Given the description of an element on the screen output the (x, y) to click on. 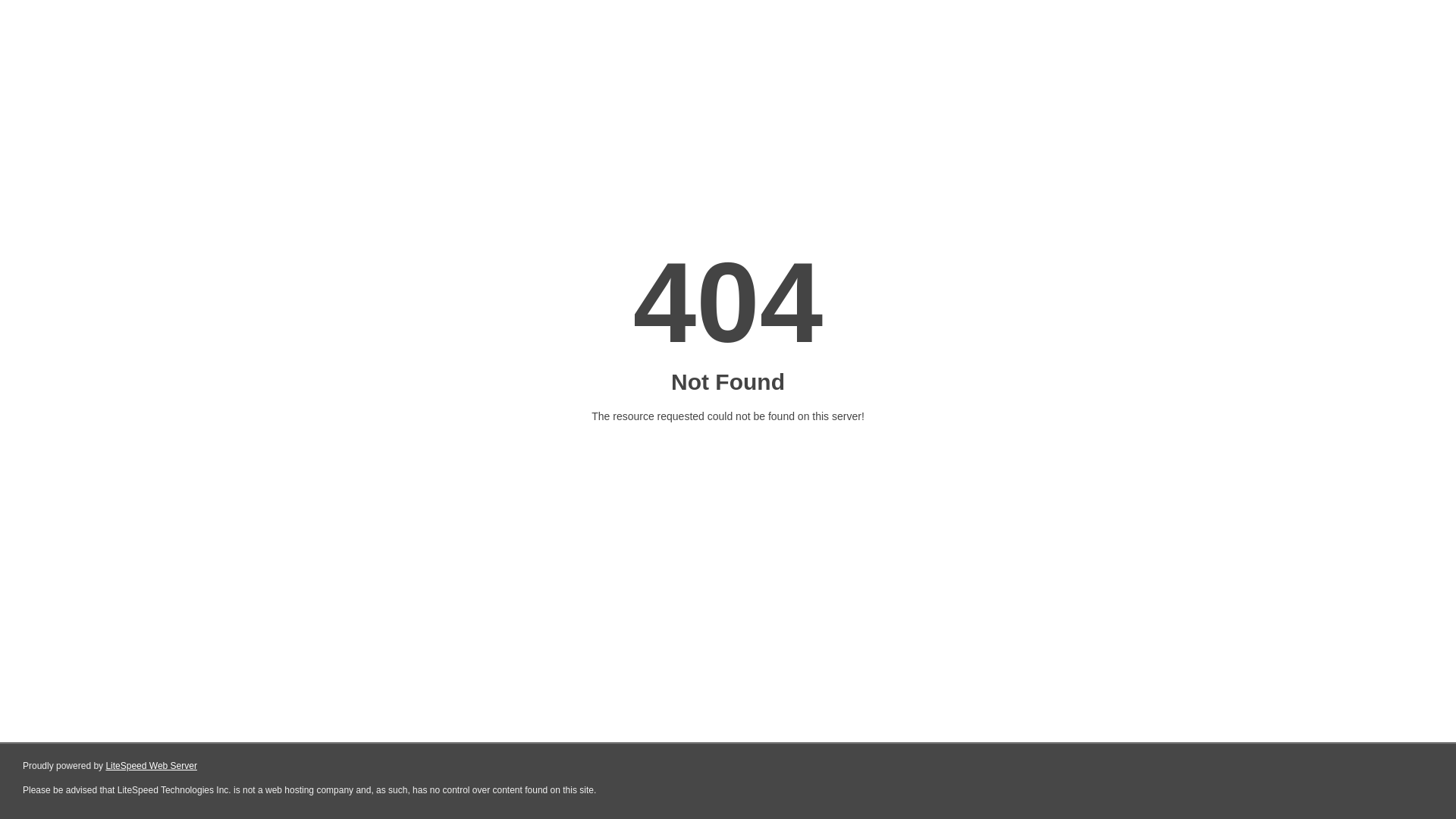
LiteSpeed Web Server Element type: text (151, 765)
